Given the description of an element on the screen output the (x, y) to click on. 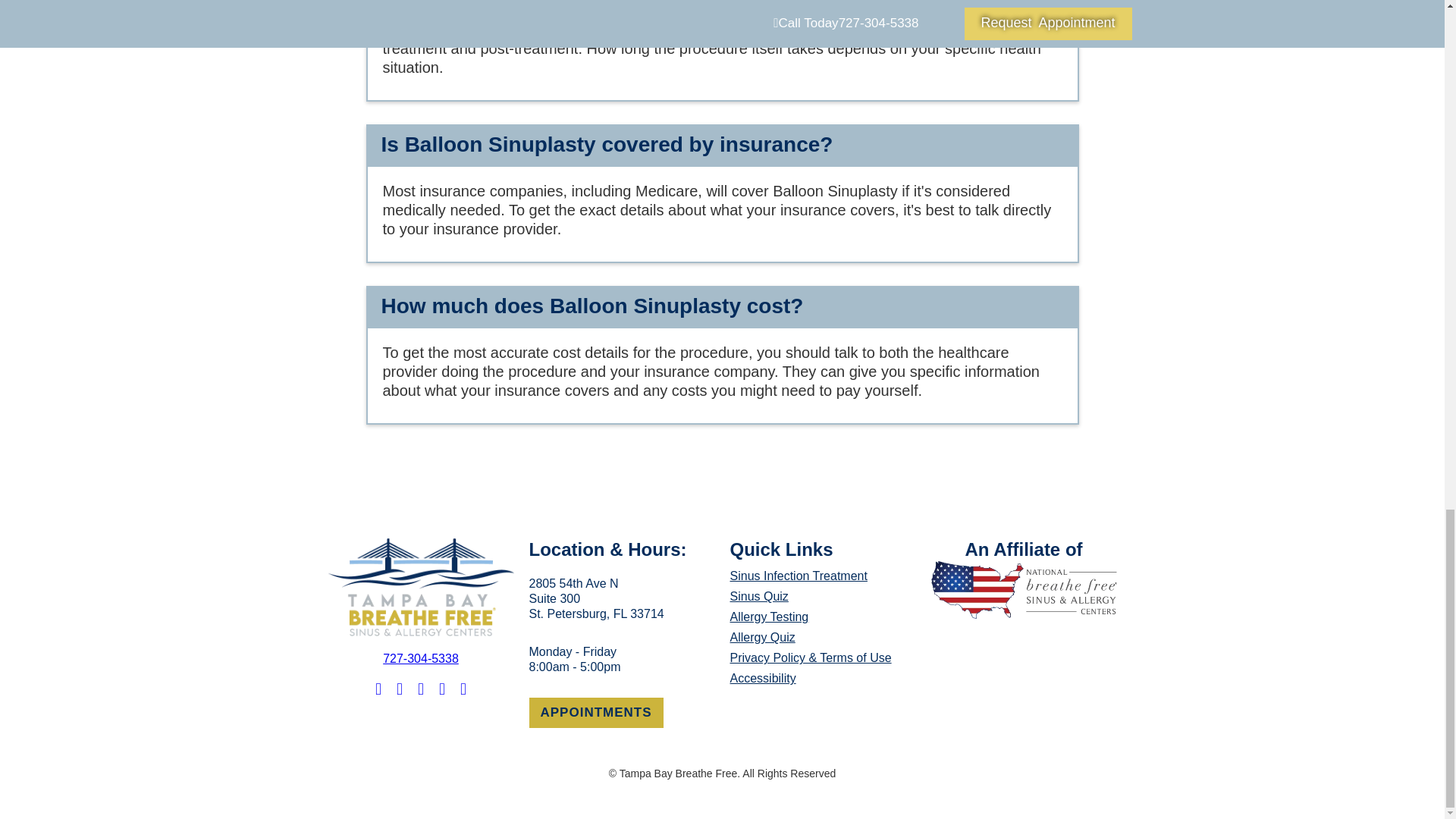
APPOINTMENTS (596, 598)
Sinus Quiz (596, 712)
Allergy Quiz (822, 596)
Accessibility (822, 637)
727-304-5338 (822, 678)
Allergy Testing (420, 658)
Sinus Infection Treatment (822, 616)
